Given the description of an element on the screen output the (x, y) to click on. 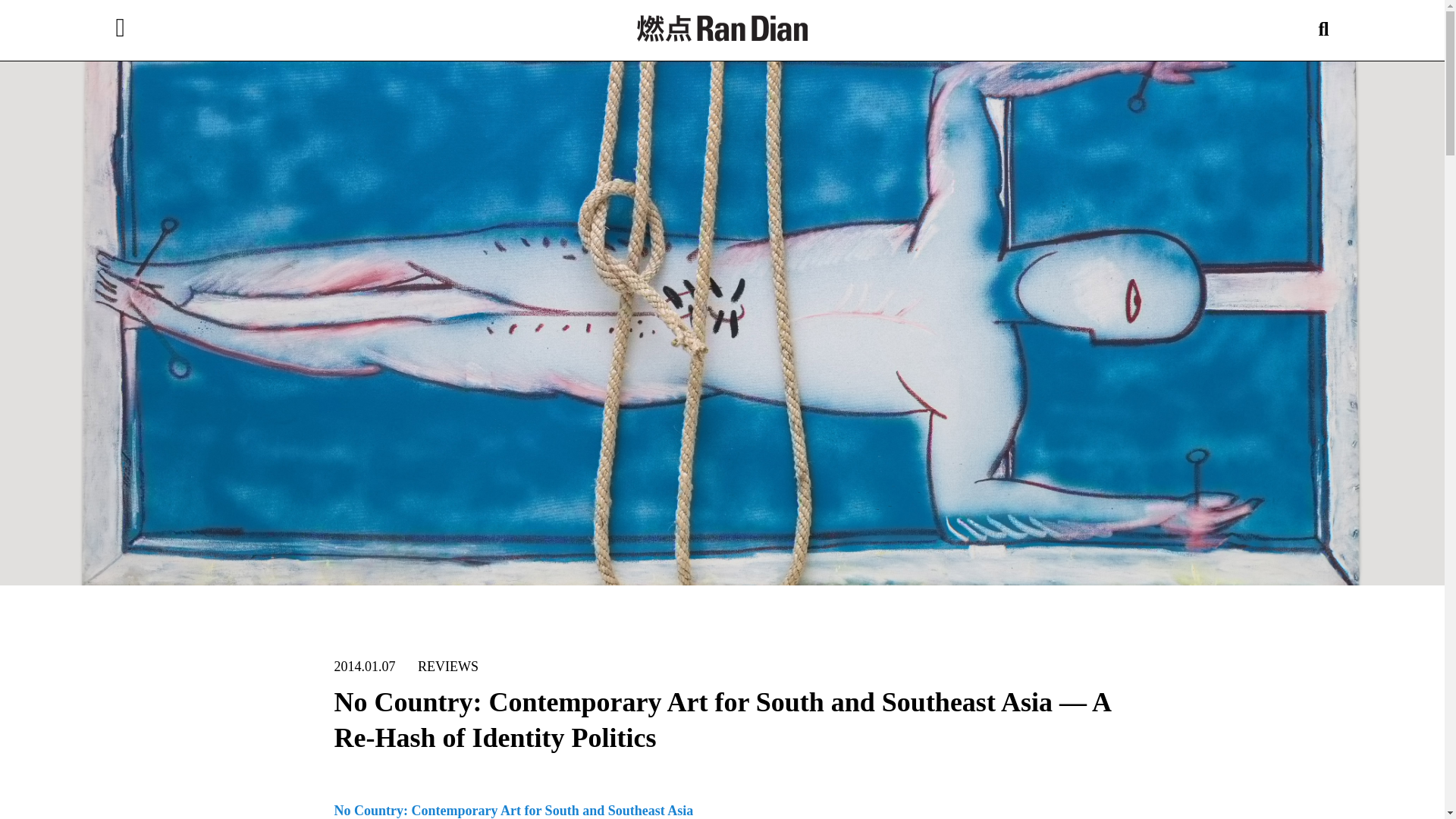
12:39 pm (363, 666)
No Country: Contemporary Art for South and Southeast Asia (513, 810)
2014.01.07 (363, 666)
